Given the description of an element on the screen output the (x, y) to click on. 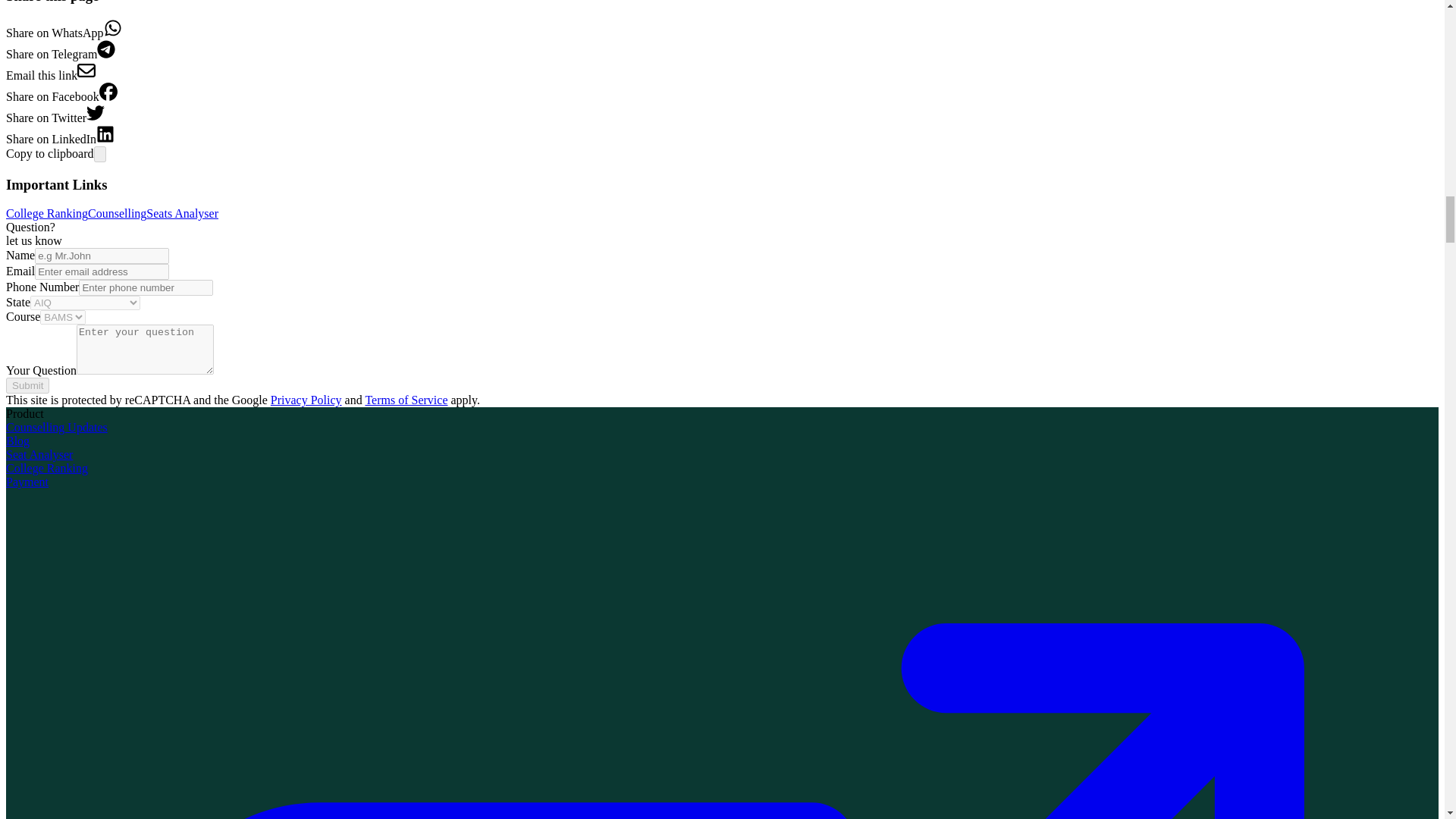
Seats Analyser (182, 213)
College Ranking (46, 213)
Submit (27, 385)
Privacy Policy (306, 399)
Terms of Service (405, 399)
Counselling (117, 213)
